Given the description of an element on the screen output the (x, y) to click on. 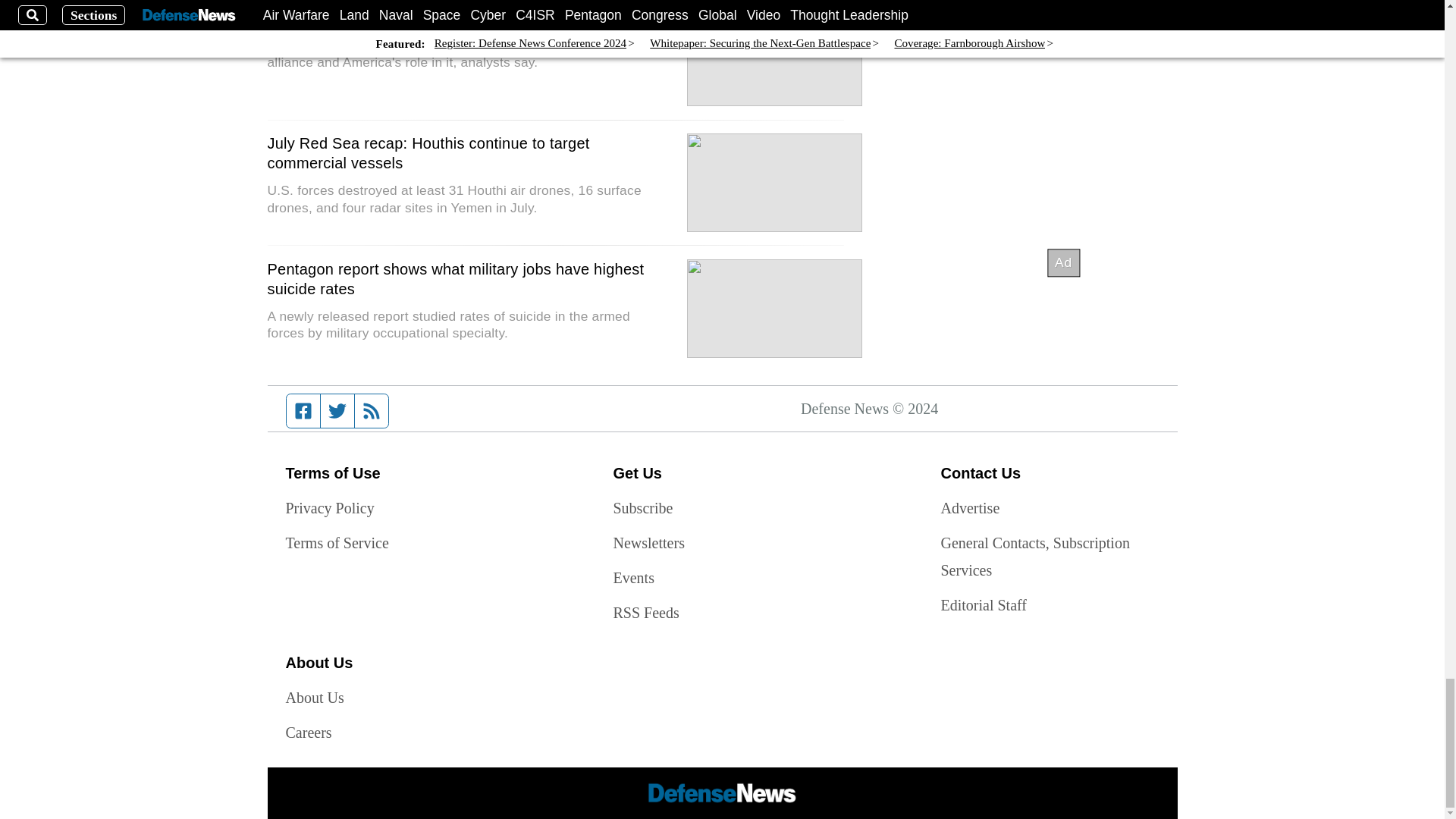
Facebook page (303, 410)
Twitter feed (336, 410)
RSS feed (371, 410)
